Given the description of an element on the screen output the (x, y) to click on. 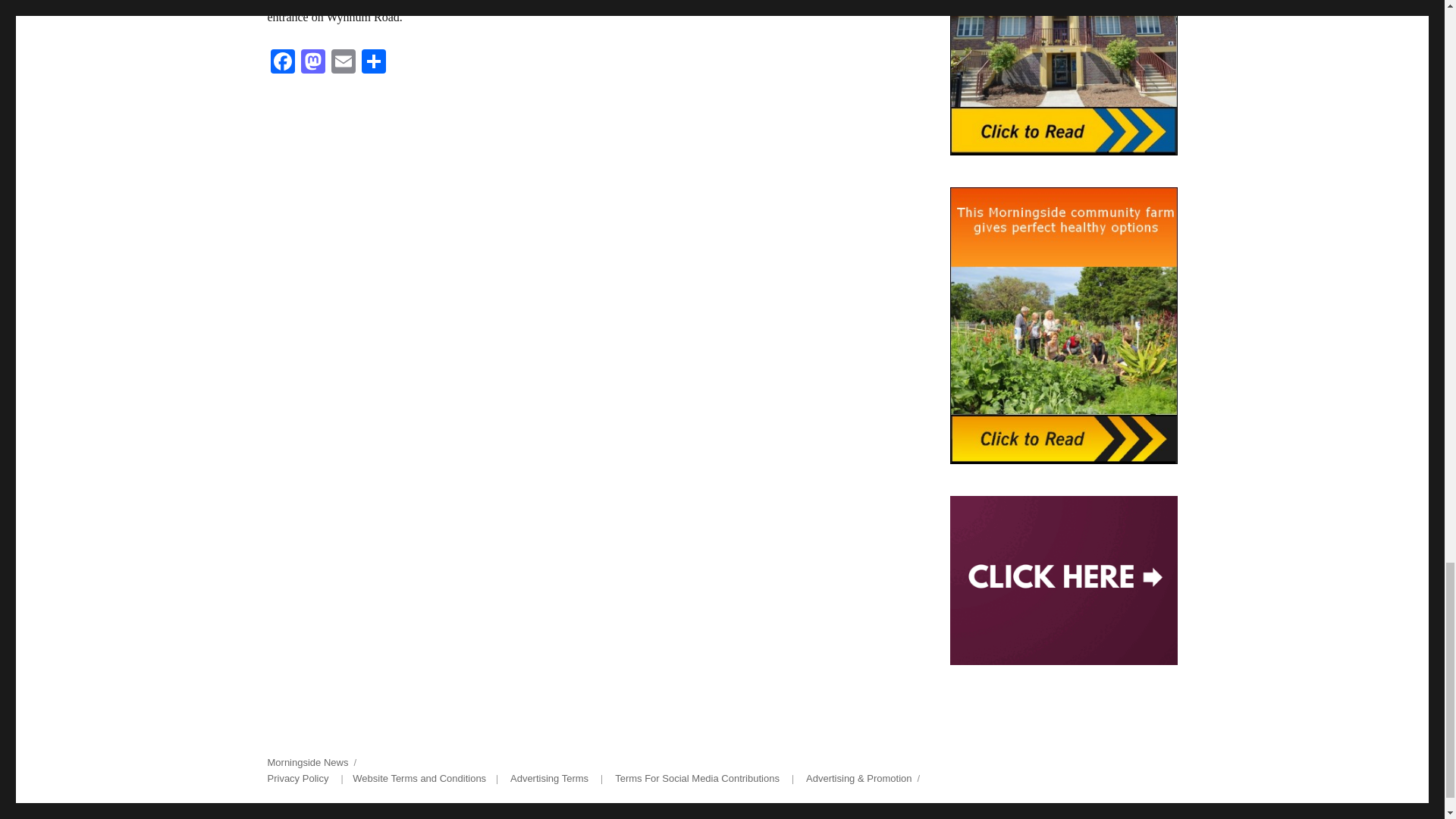
Facebook (281, 62)
Email (342, 62)
Email (342, 62)
Facebook (281, 62)
Website Terms and Conditions (419, 778)
Morningside News (306, 762)
Mastodon (312, 62)
Mastodon (312, 62)
Privacy Policy (297, 778)
Advertising Terms (549, 778)
